Given the description of an element on the screen output the (x, y) to click on. 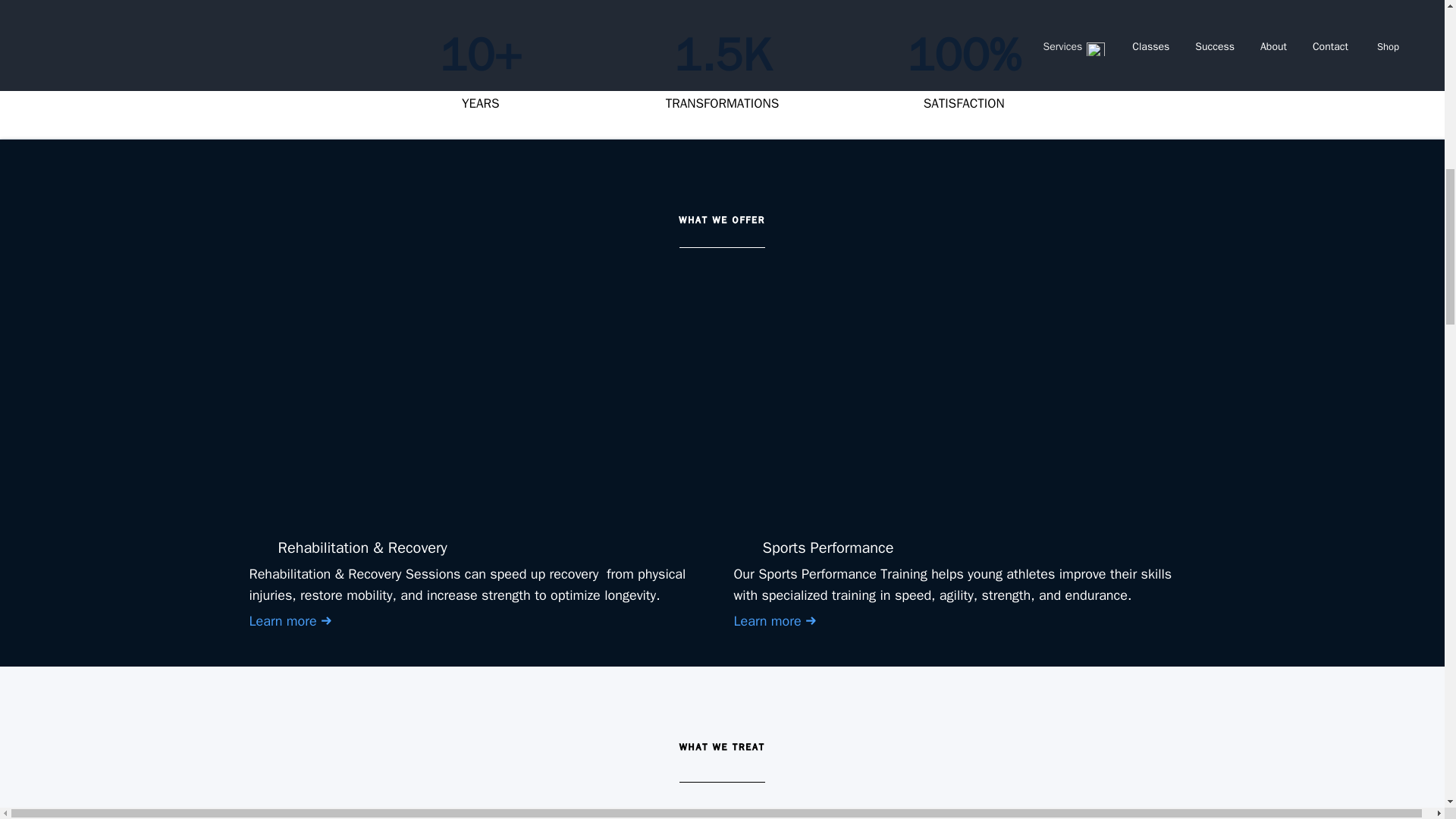
Learn more (964, 620)
Learn more (479, 620)
